Given the description of an element on the screen output the (x, y) to click on. 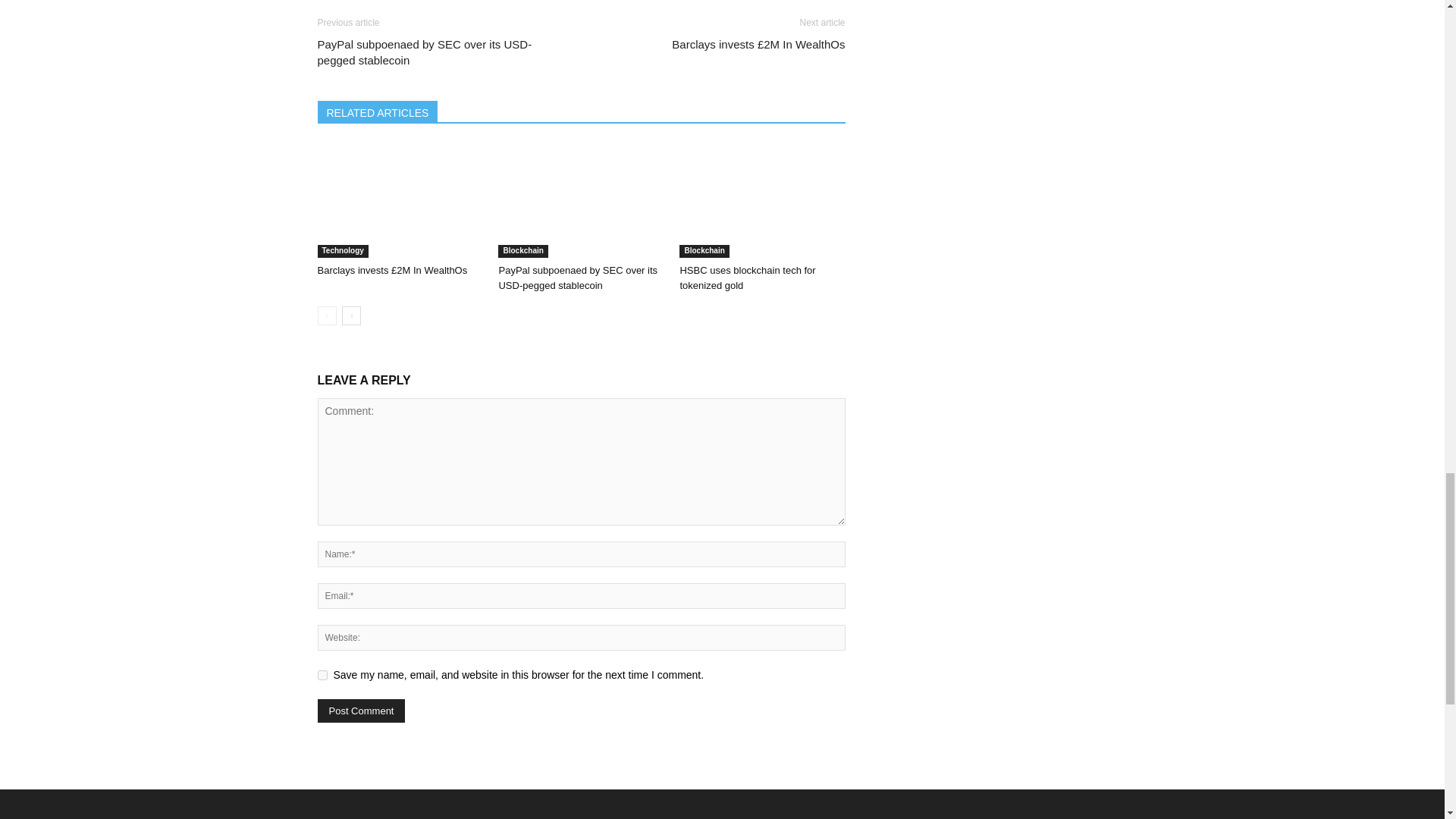
Post Comment (360, 710)
yes (321, 675)
